Given the description of an element on the screen output the (x, y) to click on. 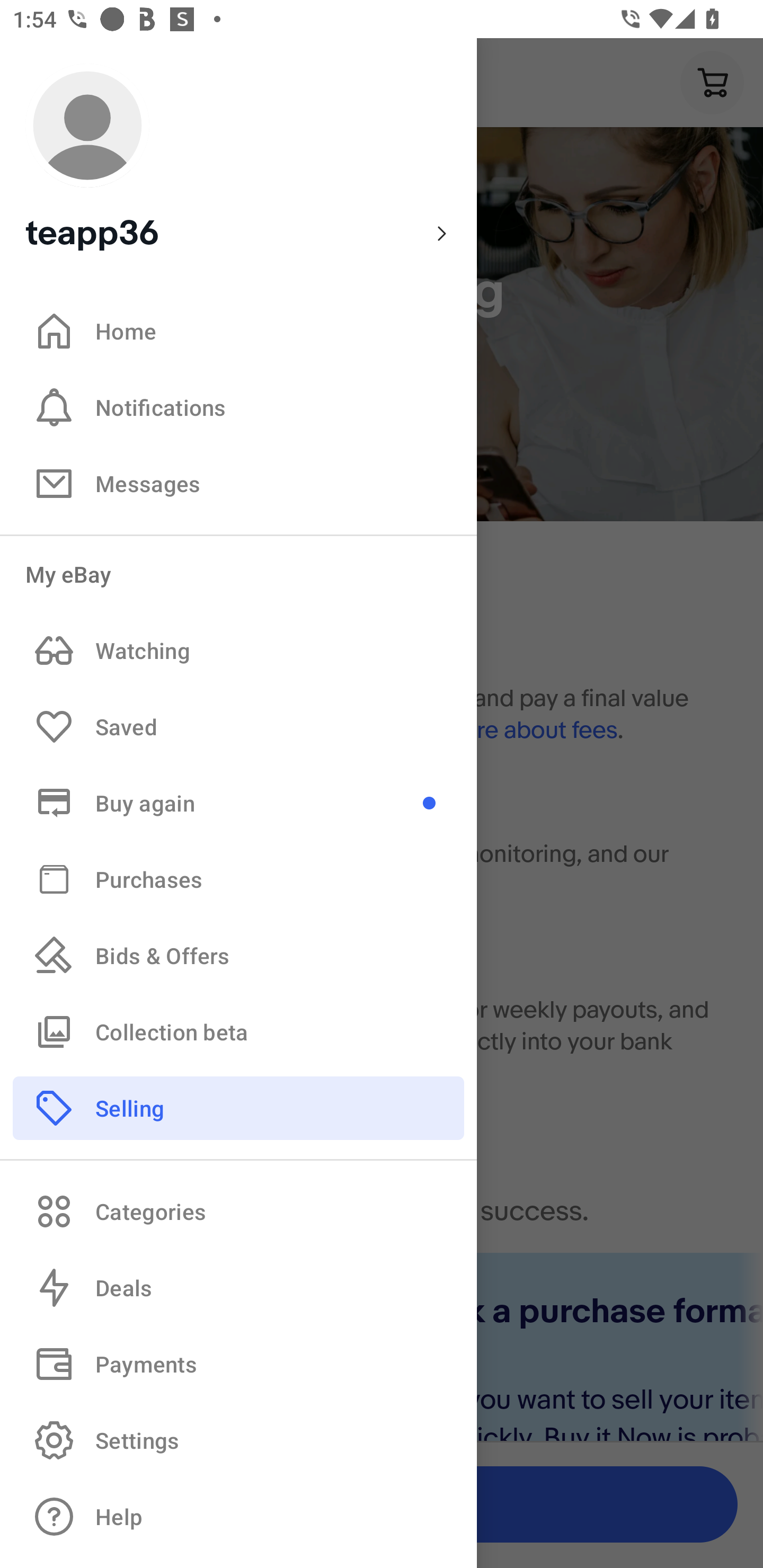
teapp36 (238, 158)
Home (238, 330)
Notifications (238, 406)
Messages (238, 483)
Watching (238, 650)
Saved (238, 726)
Buy again Is new feature (238, 802)
Purchases (238, 878)
Bids & Offers (238, 955)
Collection beta (238, 1031)
Selling (238, 1107)
Categories (238, 1210)
Deals (238, 1287)
Payments (238, 1363)
Settings (238, 1439)
Help (238, 1516)
